Given the description of an element on the screen output the (x, y) to click on. 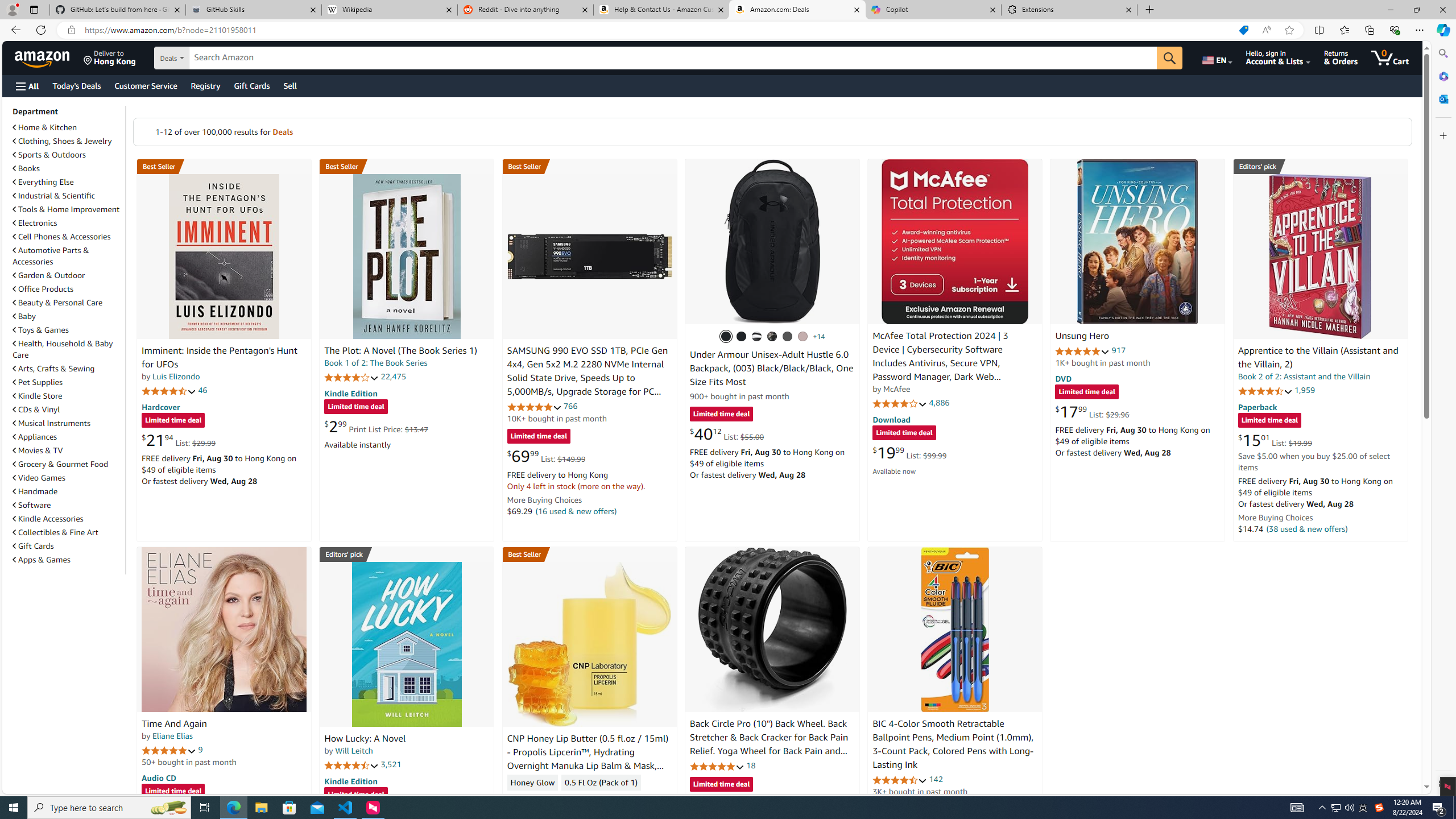
(015) Tetra Gray / Tetra Gray / Gray Matter (802, 336)
142 (935, 778)
Apprentice to the Villain (Assistant and the Villain, 2) (1318, 358)
Minimize (1390, 9)
4.9 out of 5 stars (1082, 351)
Registry (205, 85)
Garden & Outdoor (49, 275)
Automotive Parts & Accessories (50, 255)
Movies & TV (37, 450)
Apprentice to the Villain (Assistant and the Villain, 2) (1319, 256)
Grocery & Gourmet Food (61, 463)
Handmade (35, 491)
4.3 out of 5 stars (534, 799)
